Given the description of an element on the screen output the (x, y) to click on. 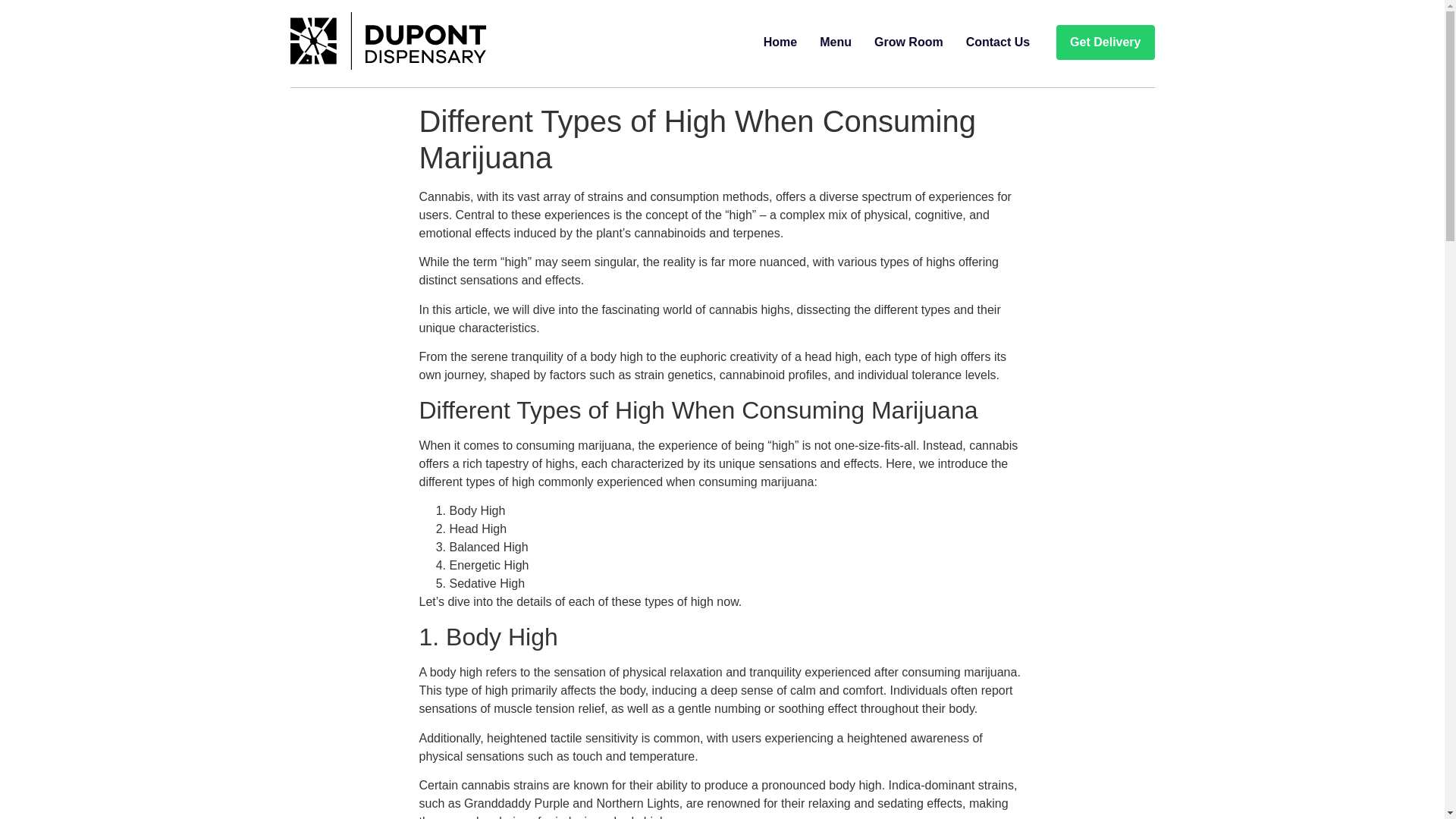
Home (780, 43)
Contact Us (998, 43)
Get Delivery (1105, 42)
Grow Room (909, 43)
Menu (835, 43)
